Given the description of an element on the screen output the (x, y) to click on. 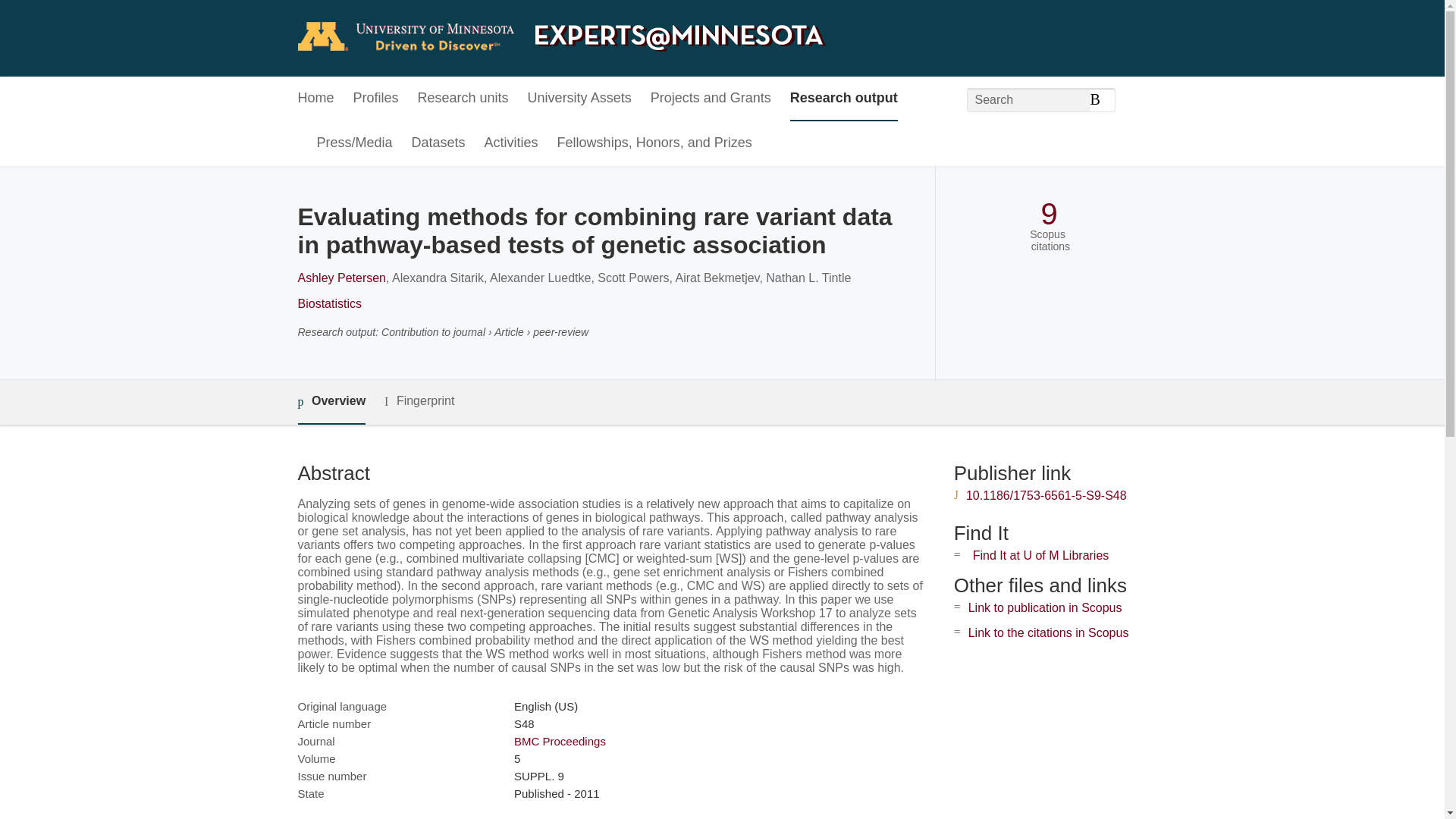
Biostatistics (329, 303)
Overview (331, 402)
Fingerprint (419, 401)
Ashley Petersen (341, 277)
Profiles (375, 98)
Find It at U of M Libraries (1040, 554)
Datasets (438, 143)
Link to publication in Scopus (1045, 607)
Research units (462, 98)
Link to the citations in Scopus (1048, 632)
Activities (511, 143)
Research output (844, 98)
Fellowships, Honors, and Prizes (654, 143)
Projects and Grants (710, 98)
